Given the description of an element on the screen output the (x, y) to click on. 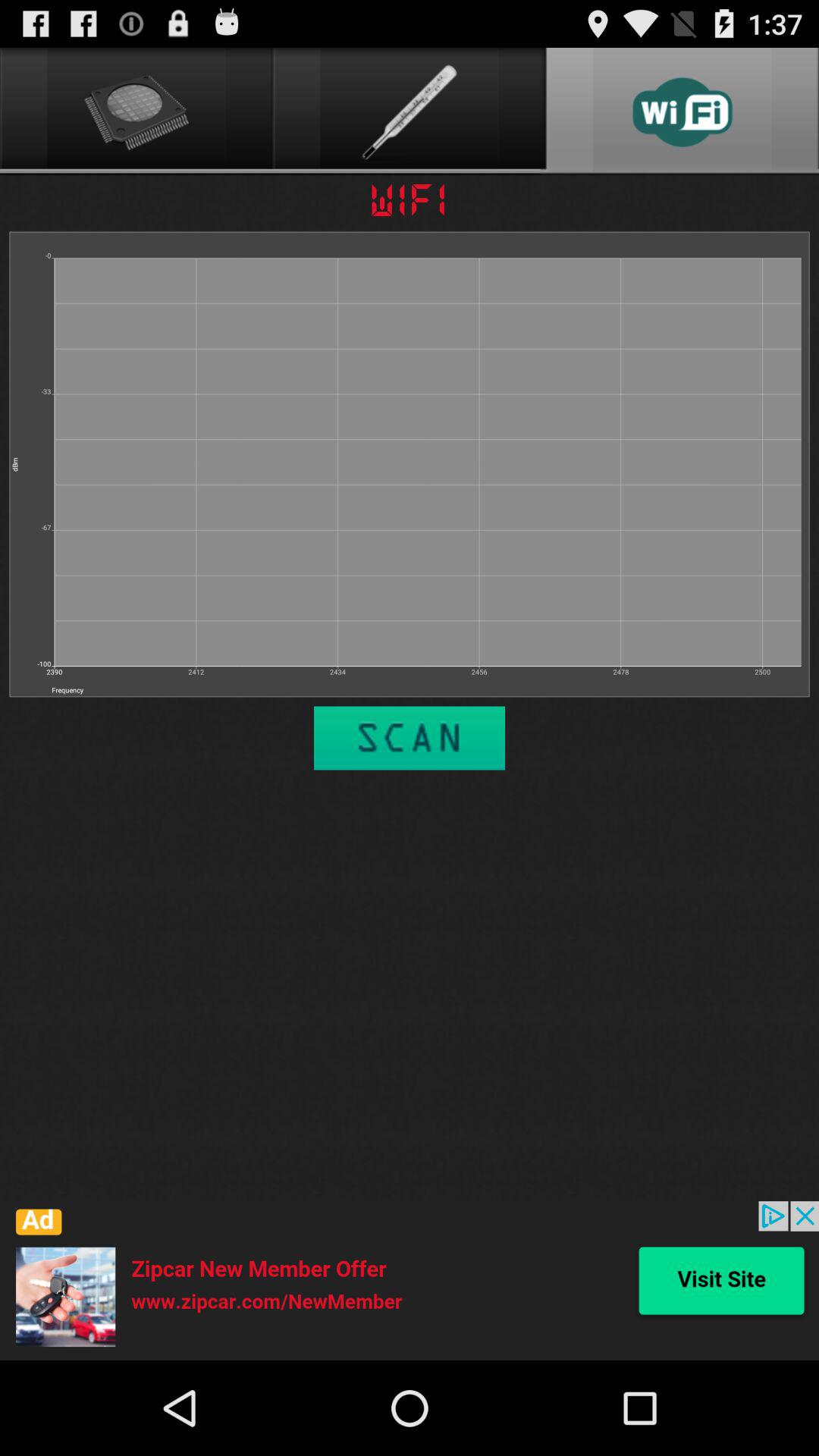
advertisement (409, 1280)
